Given the description of an element on the screen output the (x, y) to click on. 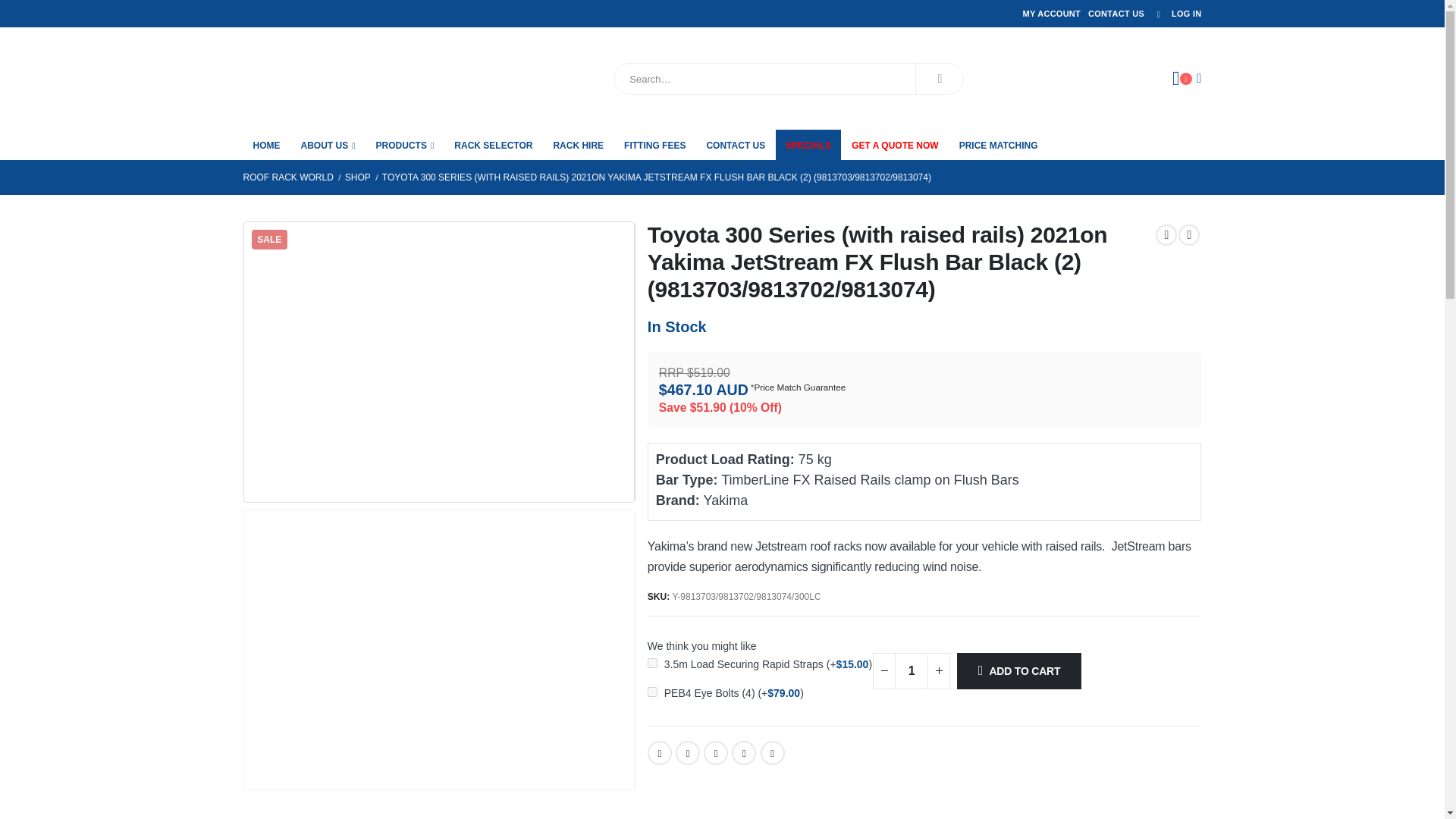
PRODUCTS (405, 144)
LinkedIn (715, 752)
ABOUT US (328, 144)
Roof Rack World - SA's largest collection of roofracks (328, 78)
1 (911, 670)
3-5m-load-securing-rapid-straps (652, 663)
peb4-eye-bolts-4 (652, 691)
Search (938, 78)
HOME (266, 144)
MY ACCOUNT (1050, 13)
